Given the description of an element on the screen output the (x, y) to click on. 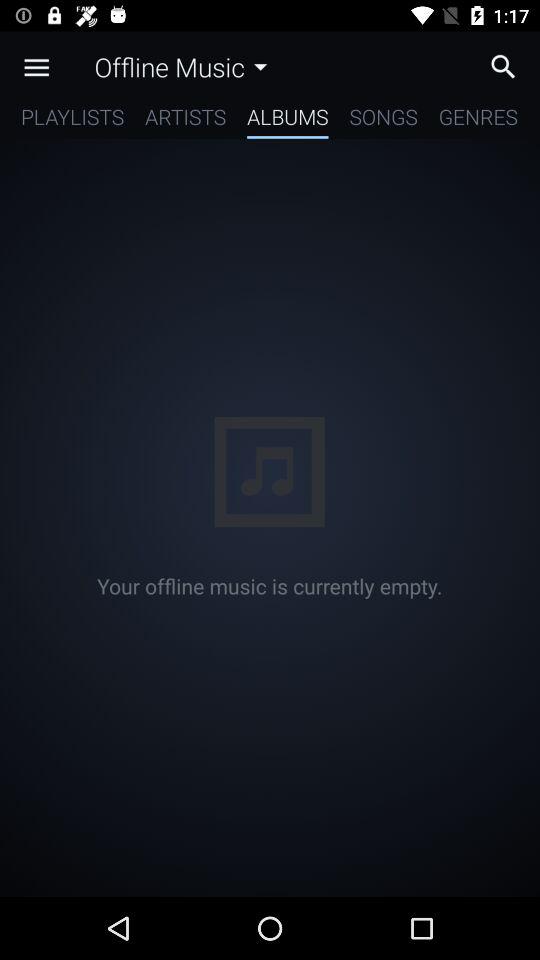
tap icon to the left of offline music item (36, 67)
